Given the description of an element on the screen output the (x, y) to click on. 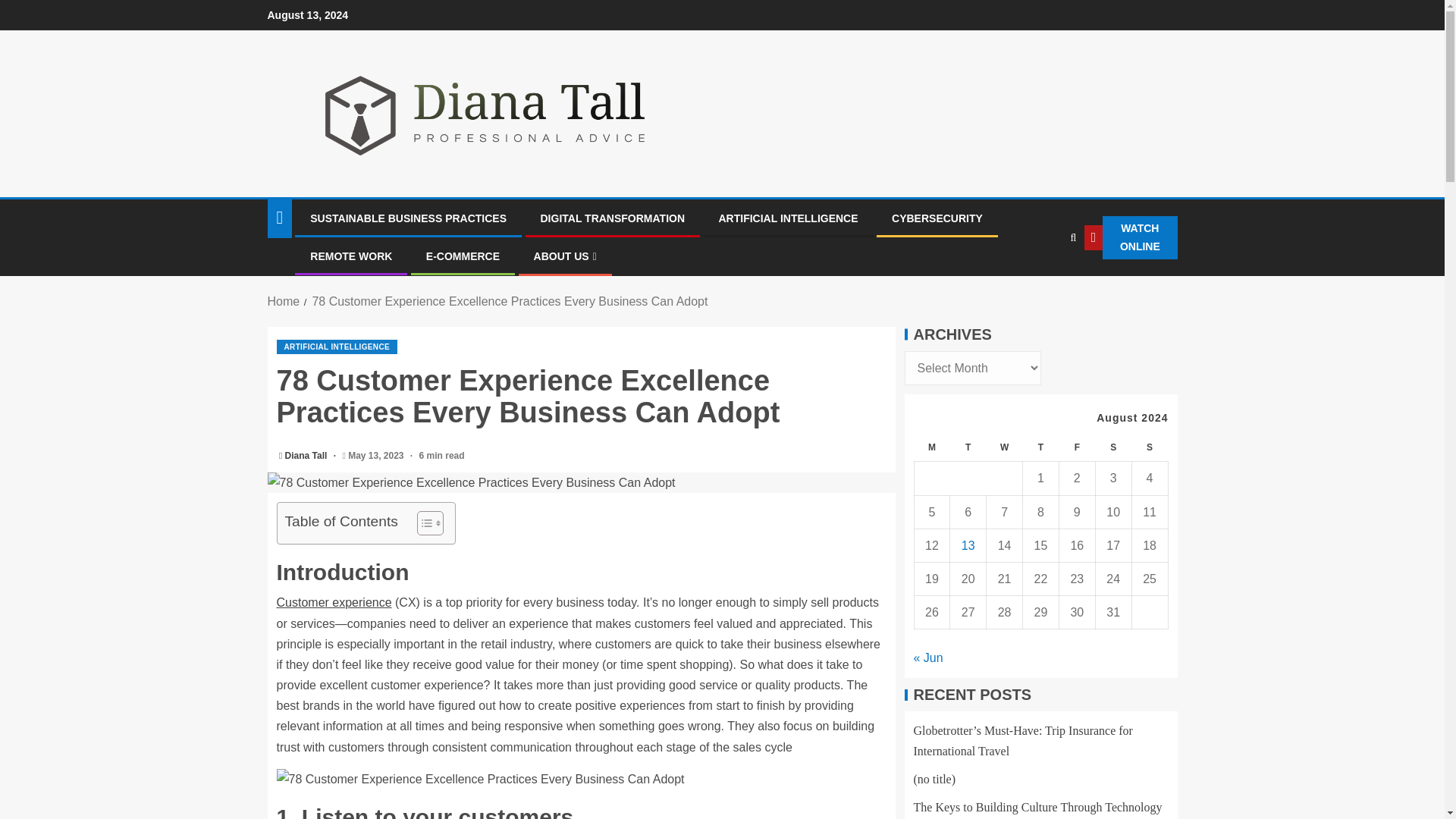
Search (1041, 284)
CYBERSECURITY (936, 218)
WATCH ONLINE (1130, 238)
DIGITAL TRANSFORMATION (612, 218)
Home (282, 300)
ARTIFICIAL INTELLIGENCE (336, 346)
E-COMMERCE (462, 256)
Diana Tall (307, 455)
ARTIFICIAL INTELLIGENCE (789, 218)
